Given the description of an element on the screen output the (x, y) to click on. 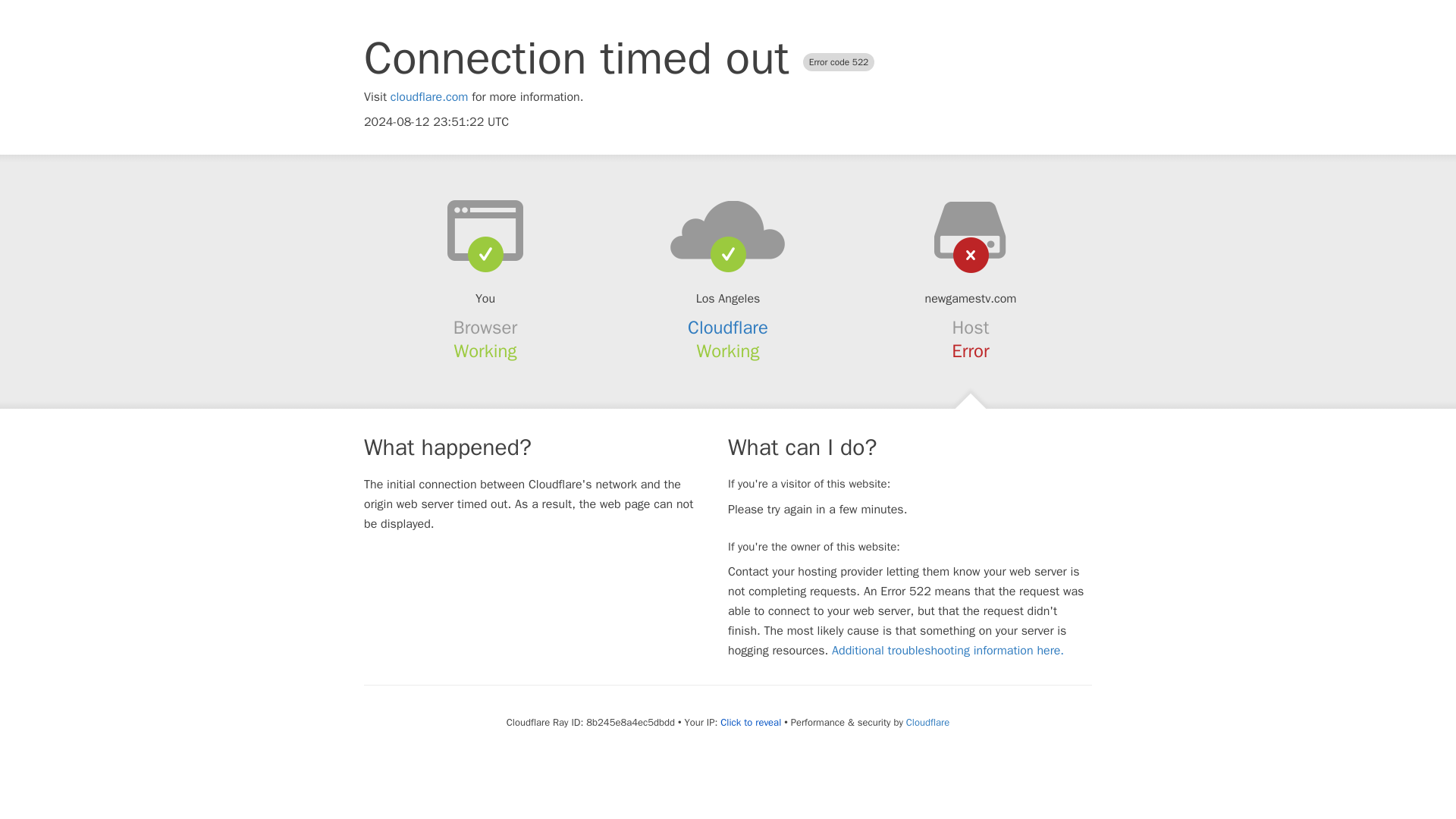
cloudflare.com (429, 96)
Cloudflare (727, 327)
Click to reveal (750, 722)
Additional troubleshooting information here. (947, 650)
Cloudflare (927, 721)
